Given the description of an element on the screen output the (x, y) to click on. 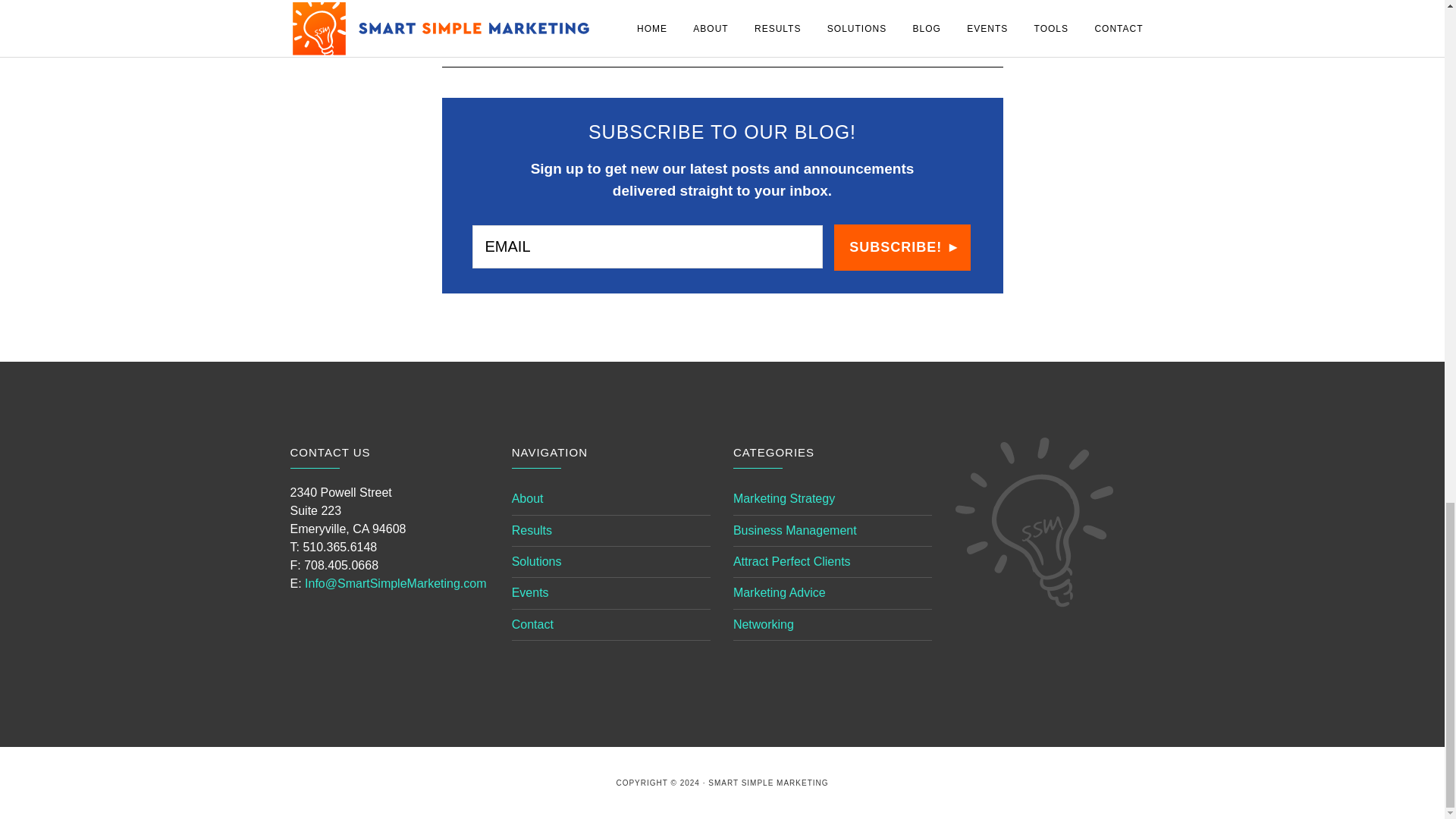
About (527, 498)
EMAIL (646, 246)
Results (531, 530)
Contact (532, 624)
Solutions (537, 561)
Events (530, 592)
